Given the description of an element on the screen output the (x, y) to click on. 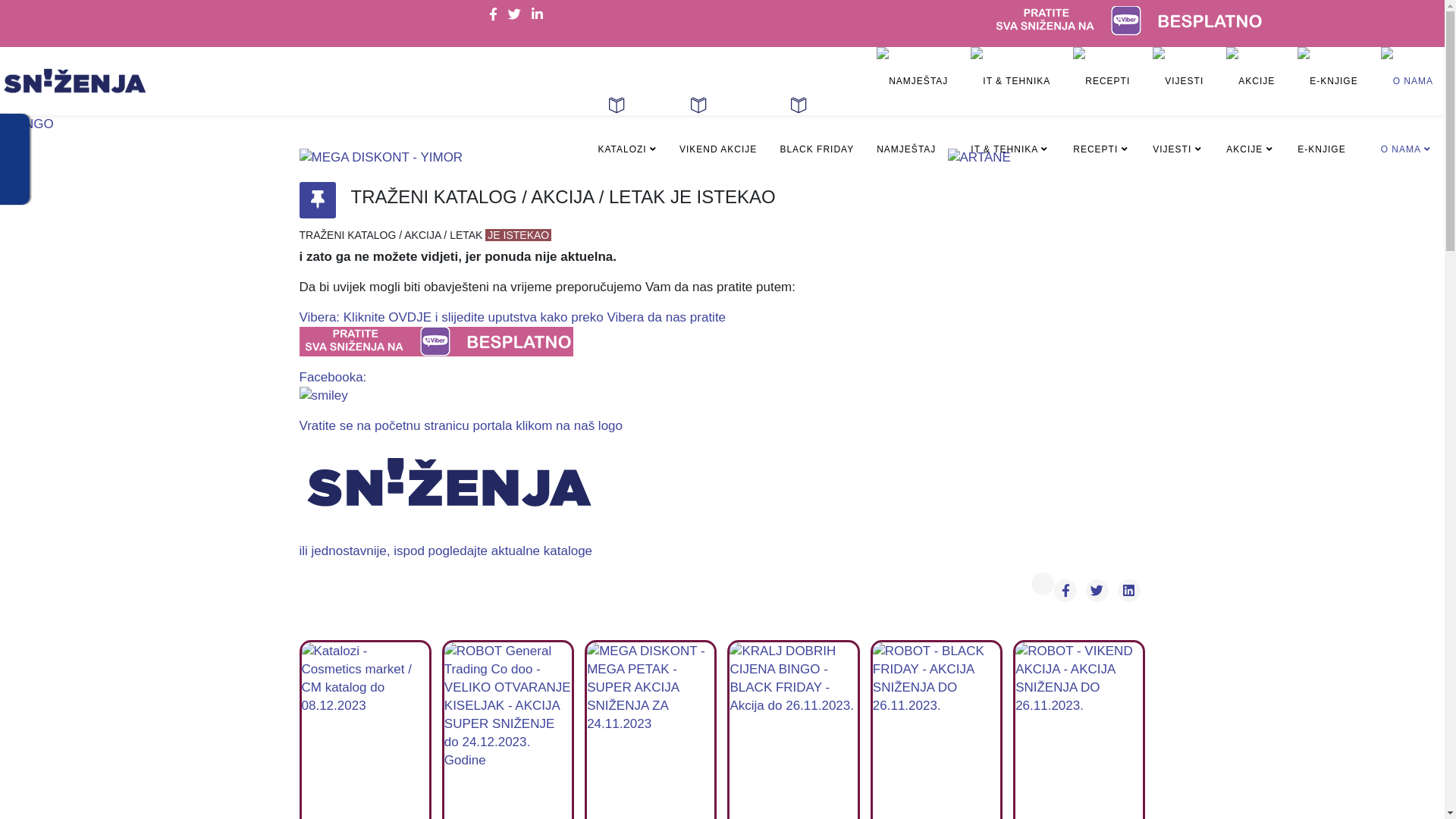
Facebooka: Element type: text (721, 387)
BLACK FRIDAY Element type: text (816, 138)
KATALOZI Element type: text (627, 138)
IT & TEHNIKA Element type: text (1010, 115)
Povratak na snizenja.ba Element type: hover (1042, 583)
MEGA DISKONT - YIMOR Element type: hover (397, 157)
VIJESTI Element type: text (1177, 115)
VIKEND AKCIJE Element type: text (718, 138)
ili jednostavnije, ispod pogledajte aktualne kataloge Element type: text (721, 551)
BINGO Element type: hover (722, 124)
AKCIJE Element type: text (1250, 115)
RECEPTI Element type: text (1101, 115)
O NAMA Element type: text (1406, 115)
E-KNJIGE Element type: text (1327, 115)
ARTANE Element type: hover (1046, 157)
